Given the description of an element on the screen output the (x, y) to click on. 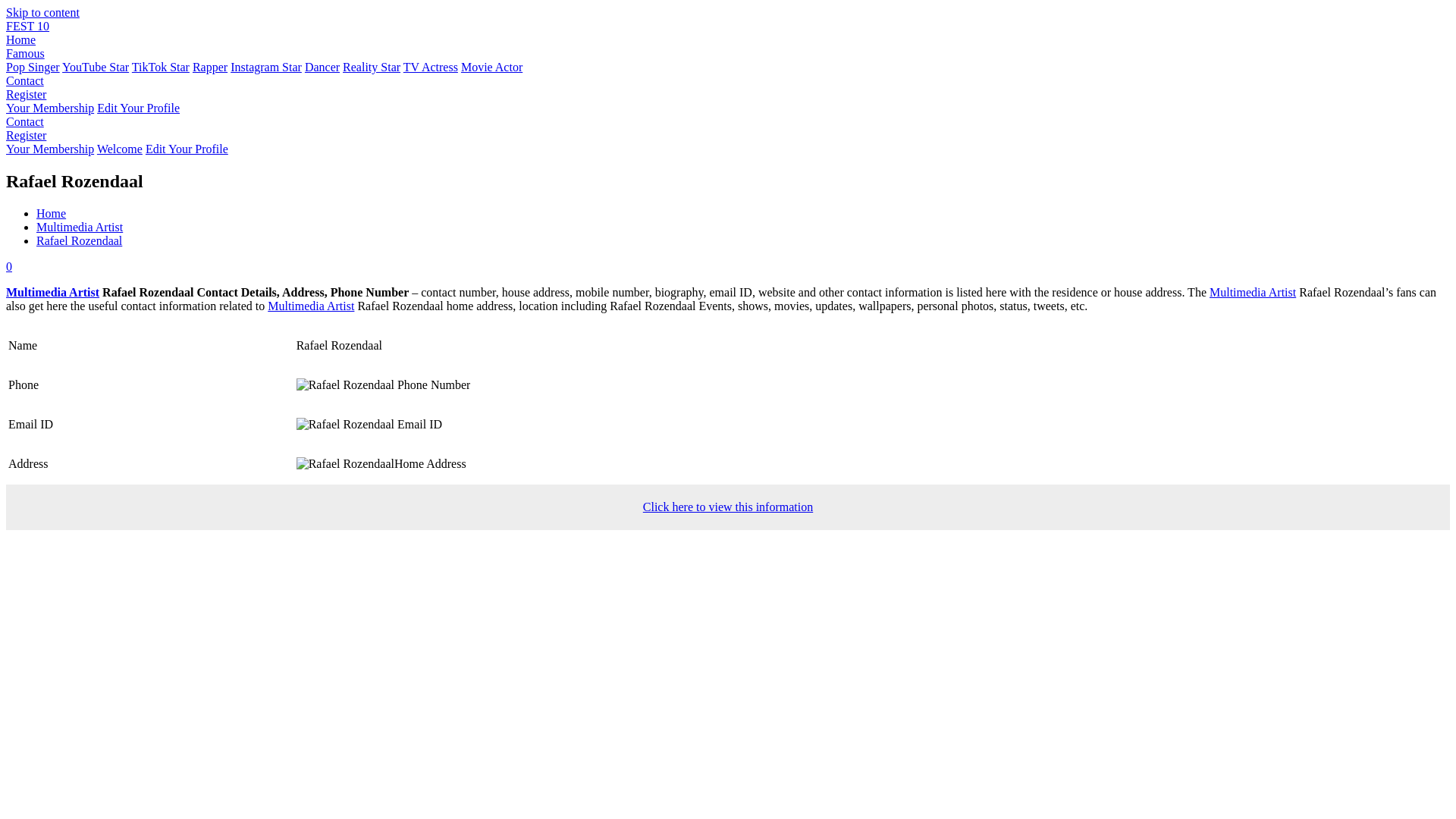
TikTok Star (160, 66)
Home (19, 39)
Welcome (119, 148)
Pop Singer (32, 66)
Multimedia Artist (79, 226)
Contact (24, 121)
Register (25, 93)
TV Actress (430, 66)
Register (25, 93)
TV Actress (430, 66)
Home (50, 213)
Your Membership (49, 107)
FEST 10 (27, 25)
Dancer (321, 66)
Edit Your Profile (138, 107)
